Given the description of an element on the screen output the (x, y) to click on. 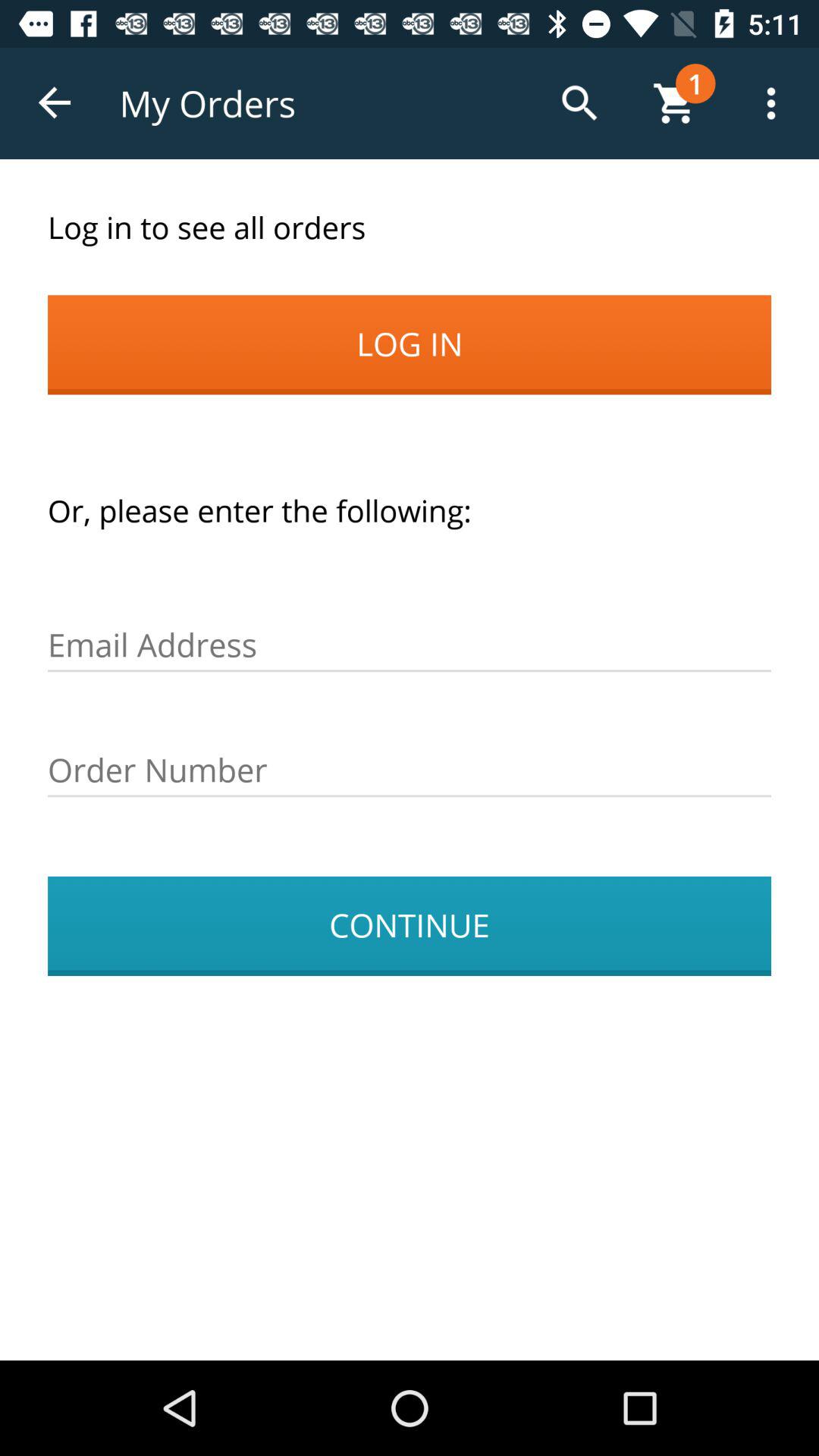
enter order number (409, 770)
